Given the description of an element on the screen output the (x, y) to click on. 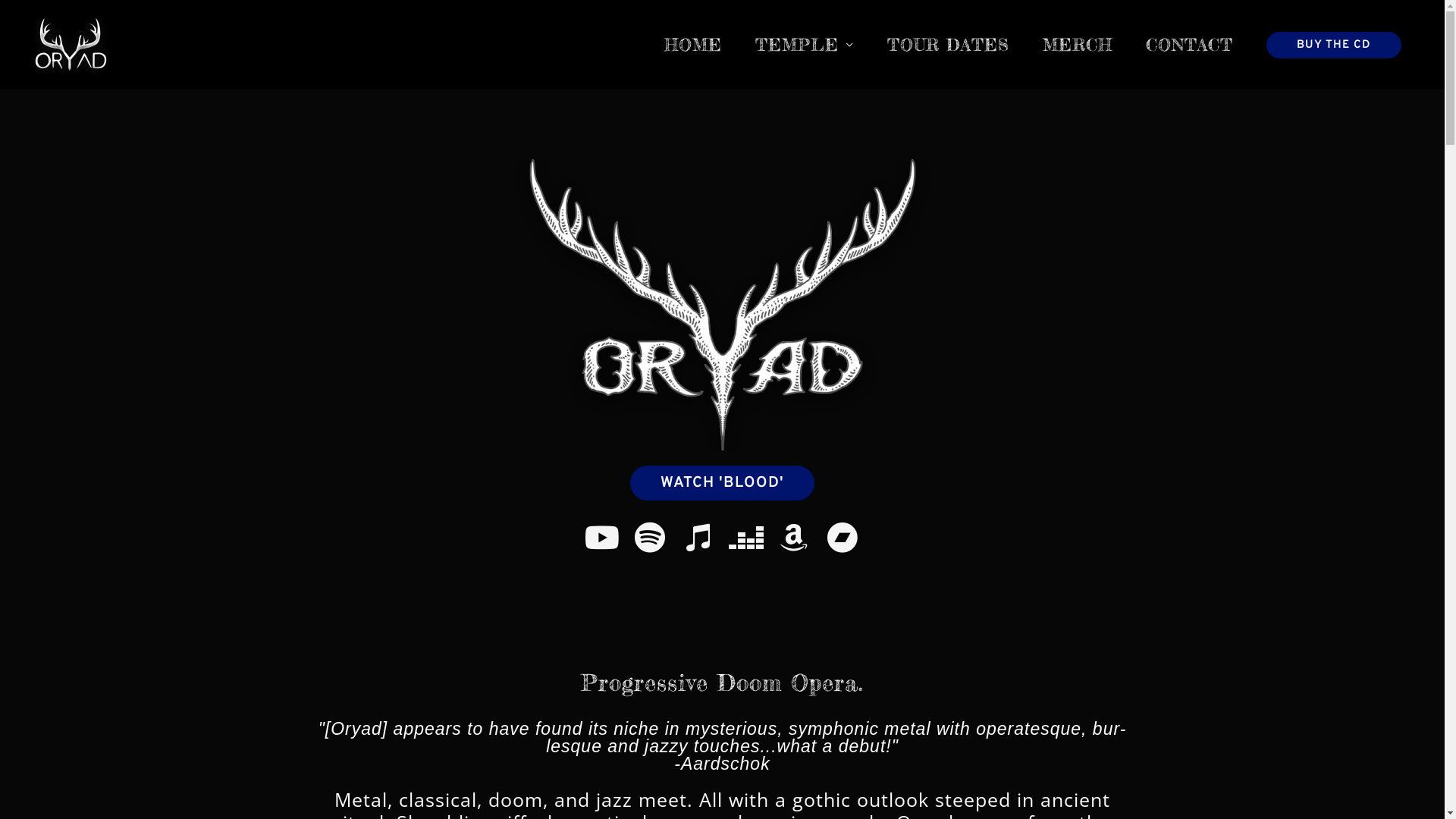
Bandcamp Element type: text (841, 536)
CONTACT Element type: text (1189, 44)
Spotify Element type: text (649, 536)
MERCH Element type: text (1077, 44)
HOME Element type: text (692, 44)
TOUR DATES Element type: text (948, 44)
Youtube Element type: text (601, 536)
BUY THE CD Element type: text (1333, 44)
Itunes-note Element type: text (697, 536)
WATCH 'BLOOD' Element type: text (722, 482)
TEMPLE Element type: text (804, 44)
Deezer Element type: text (746, 536)
Amazon Element type: text (793, 536)
